Given the description of an element on the screen output the (x, y) to click on. 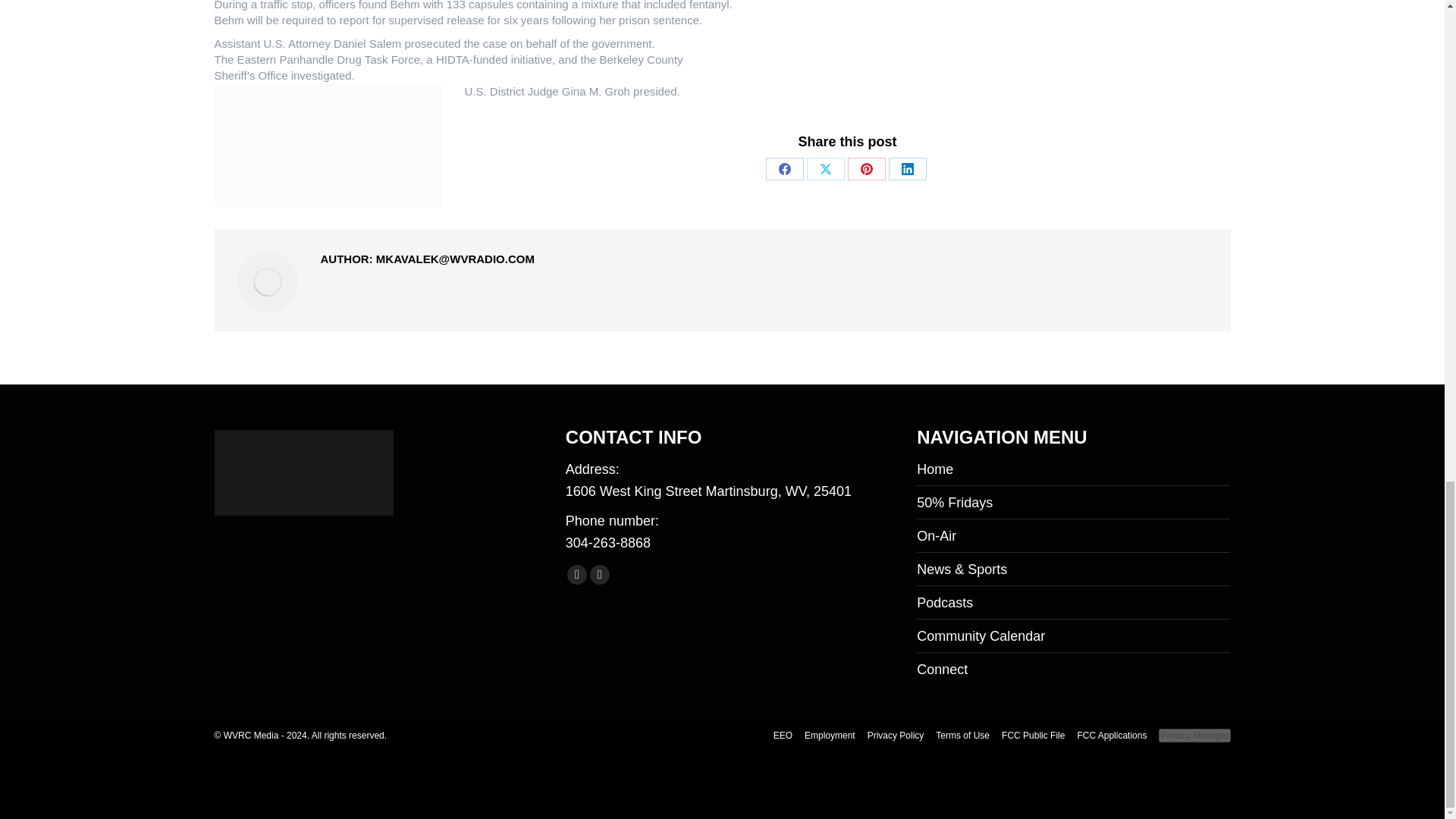
X page opens in new window (599, 574)
Pinterest (866, 169)
Facebook page opens in new window (576, 574)
LinkedIn (907, 169)
X (825, 169)
Facebook (784, 169)
